Given the description of an element on the screen output the (x, y) to click on. 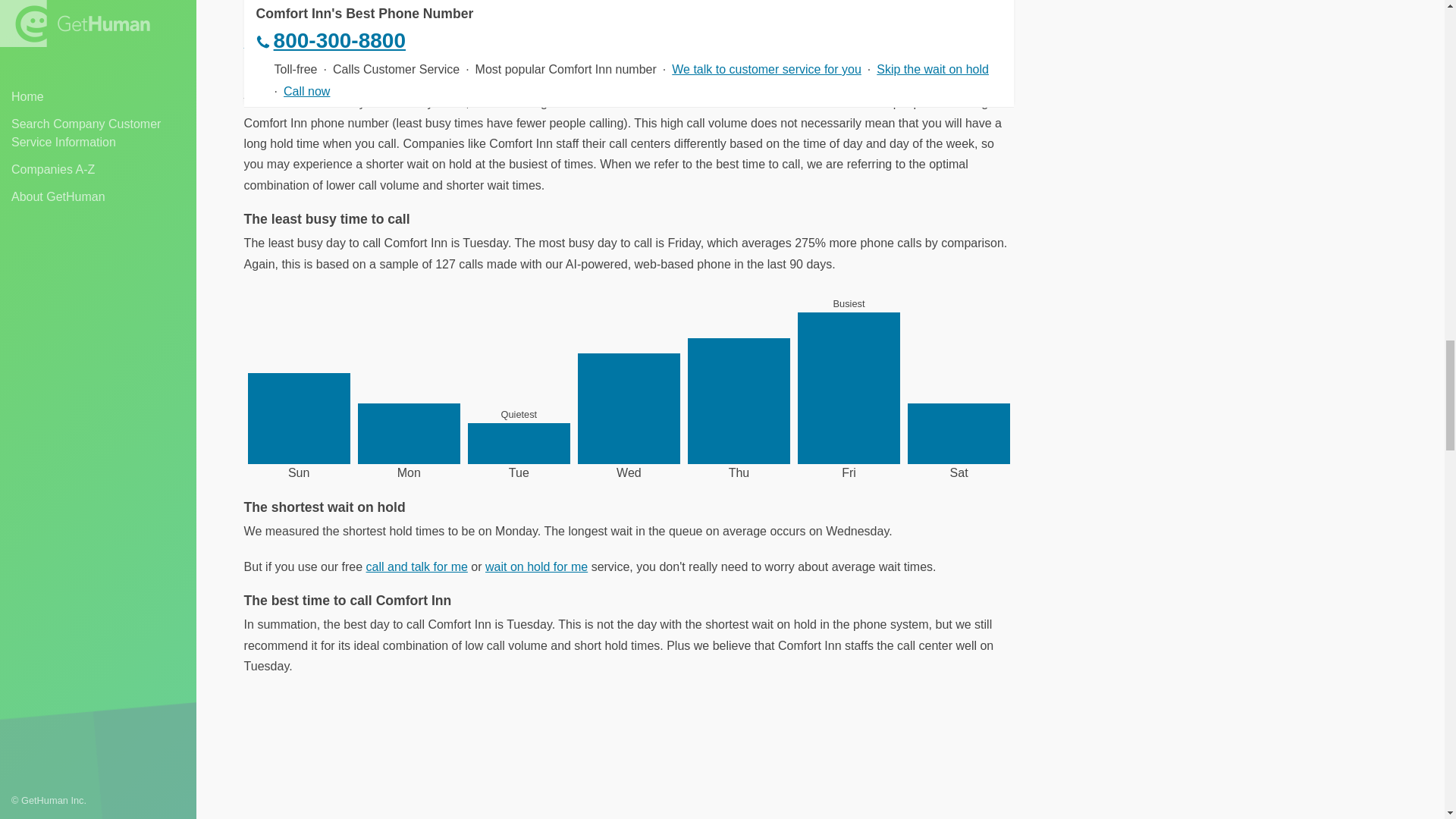
call and talk for me (416, 566)
wait on hold for me (536, 566)
Learn about scheduling a call (322, 42)
